Given the description of an element on the screen output the (x, y) to click on. 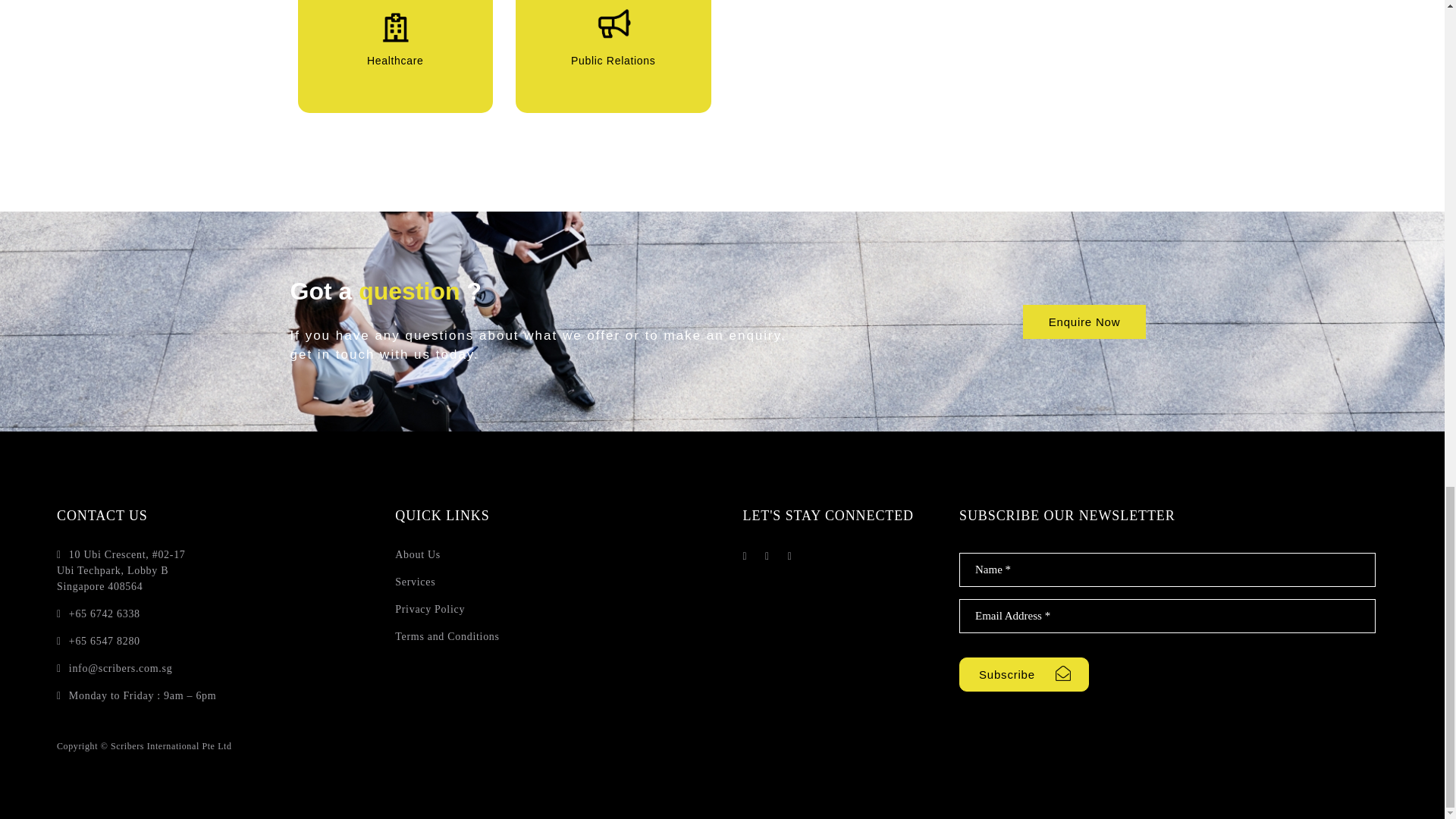
Healthcare (395, 25)
Public Relations (613, 25)
Subscribe (1024, 674)
